Given the description of an element on the screen output the (x, y) to click on. 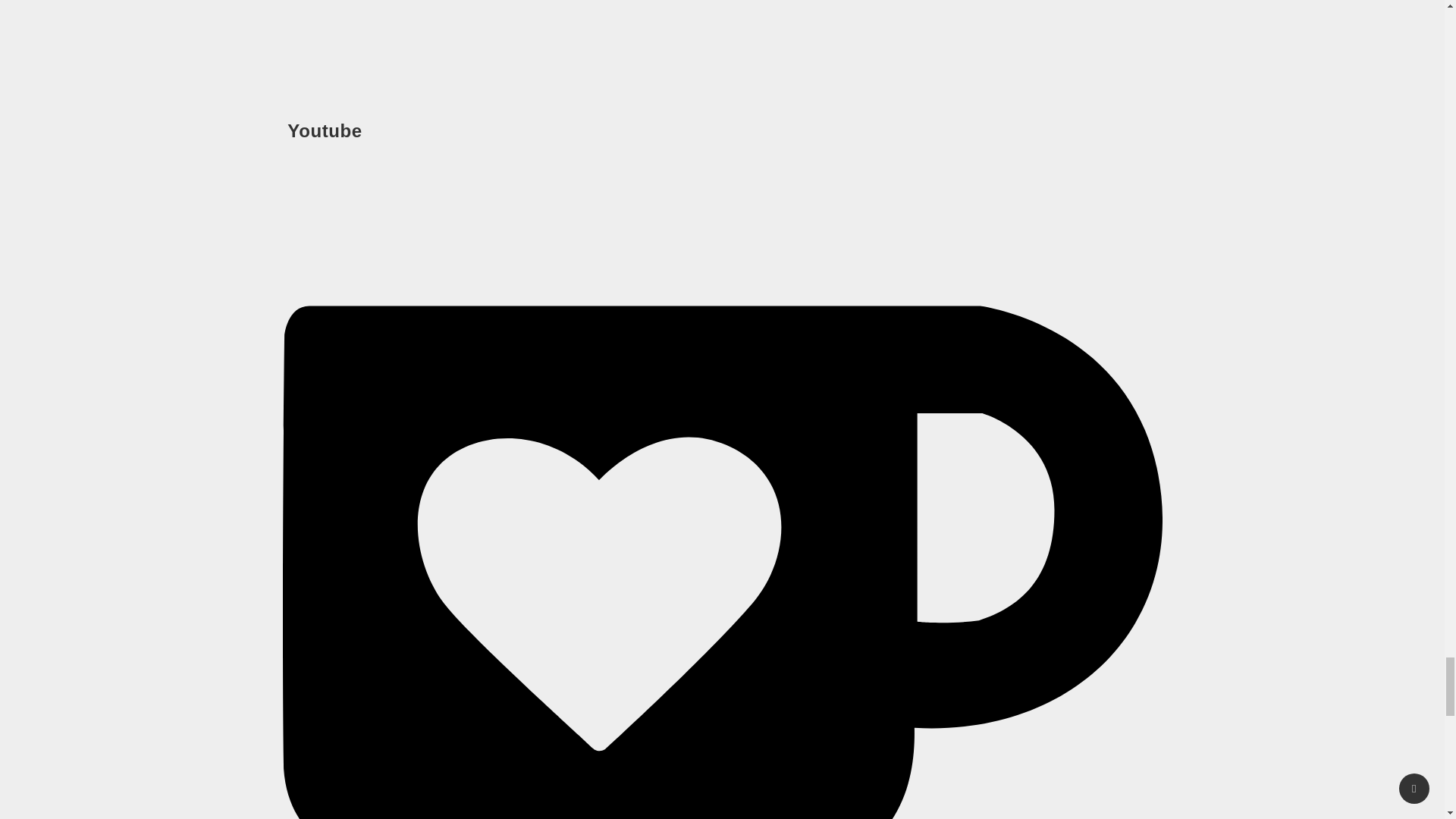
YouTube (721, 54)
